Given the description of an element on the screen output the (x, y) to click on. 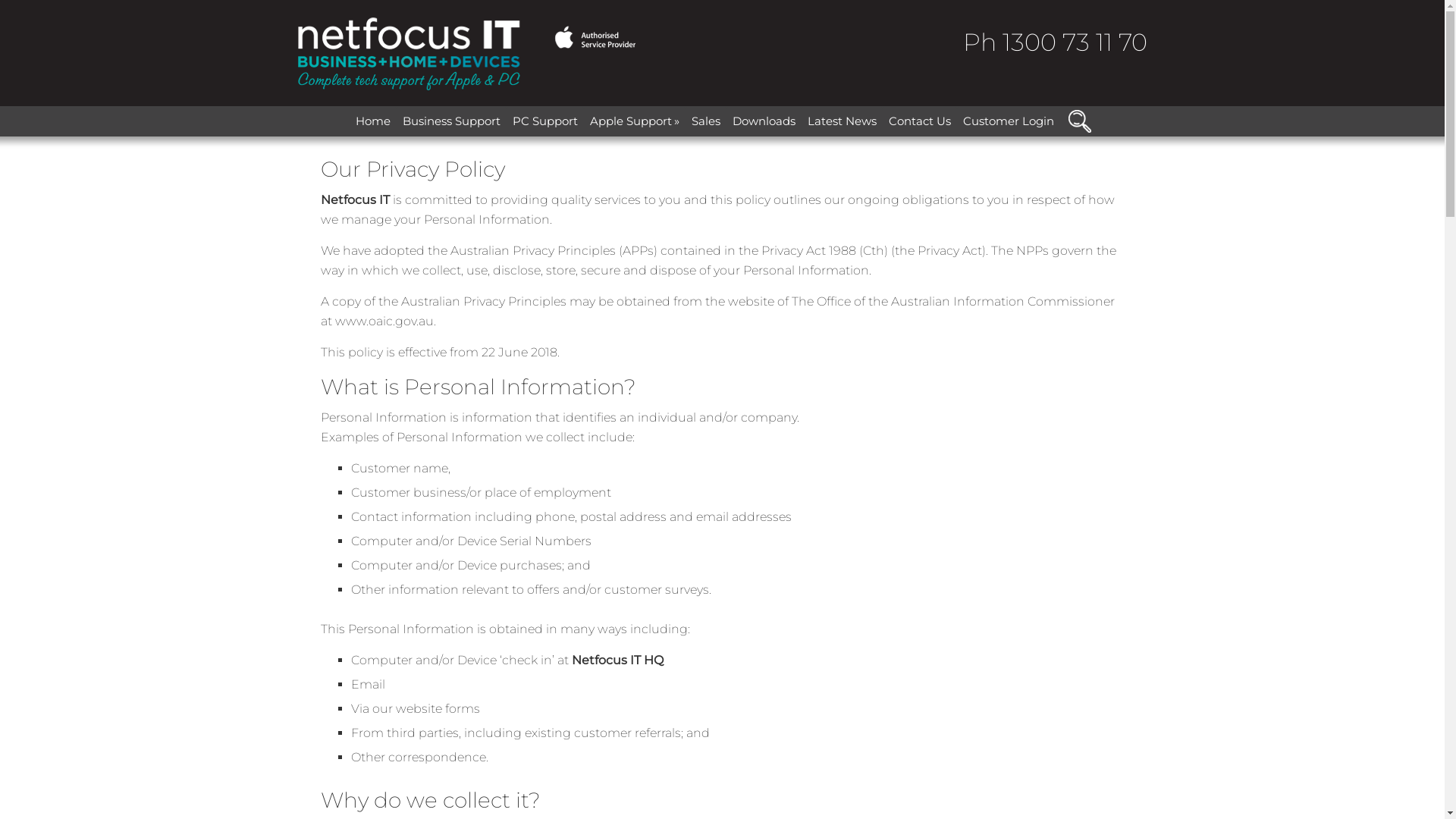
Apple Support Element type: text (634, 120)
PC Support Element type: text (544, 120)
Netfocus IT Element type: text (465, 53)
Downloads Element type: text (763, 120)
Customer Login Element type: text (1008, 120)
Sales Element type: text (705, 120)
Contact Us Element type: text (919, 120)
Ph 1300 73 11 70 Element type: text (1055, 41)
www.oaic.gov.au Element type: text (384, 320)
Home Element type: text (372, 120)
Business Support Element type: text (451, 120)
Latest News Element type: text (841, 120)
Search Element type: text (1084, 106)
